Given the description of an element on the screen output the (x, y) to click on. 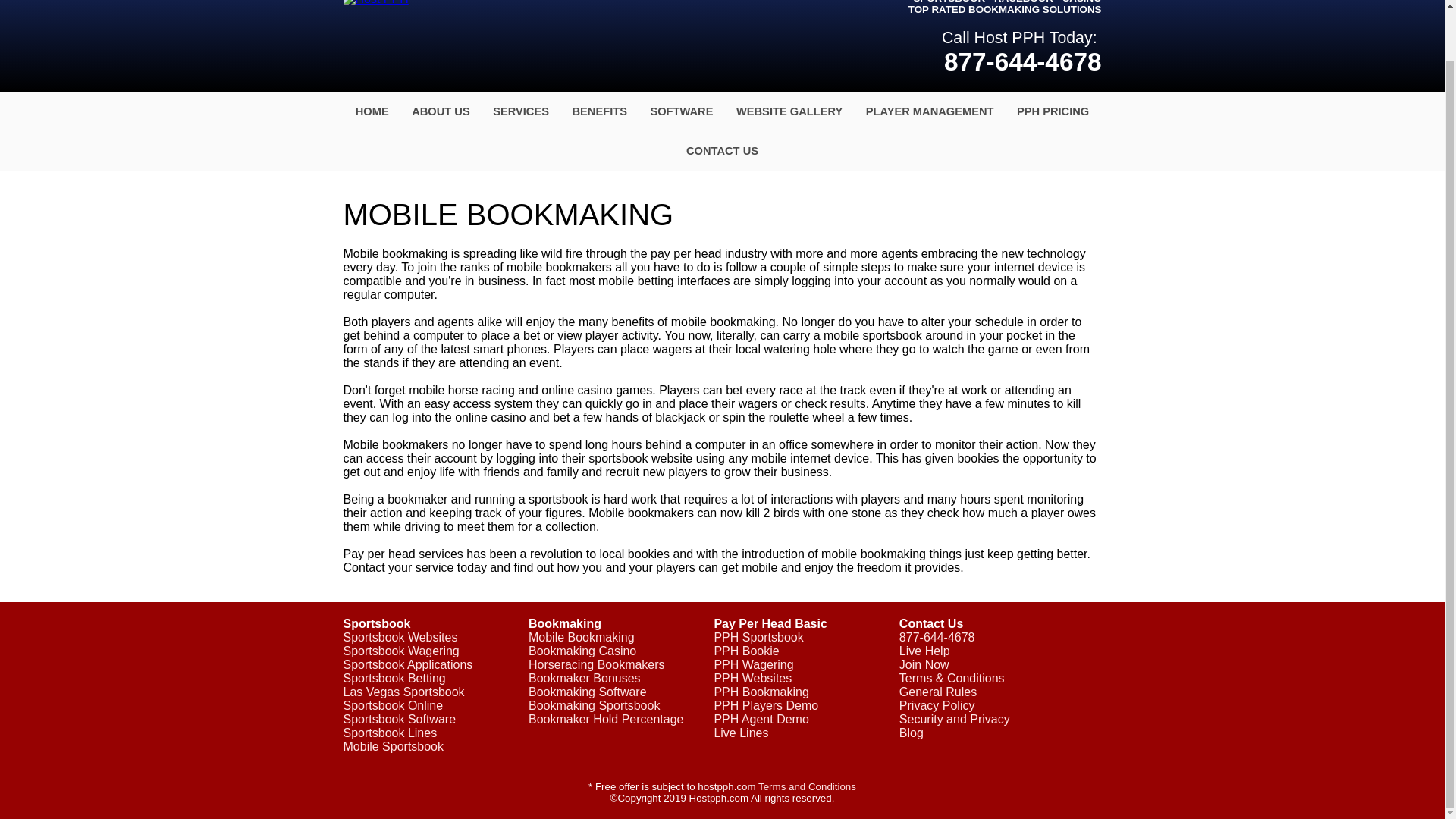
877-644-4678 (1022, 61)
